Given the description of an element on the screen output the (x, y) to click on. 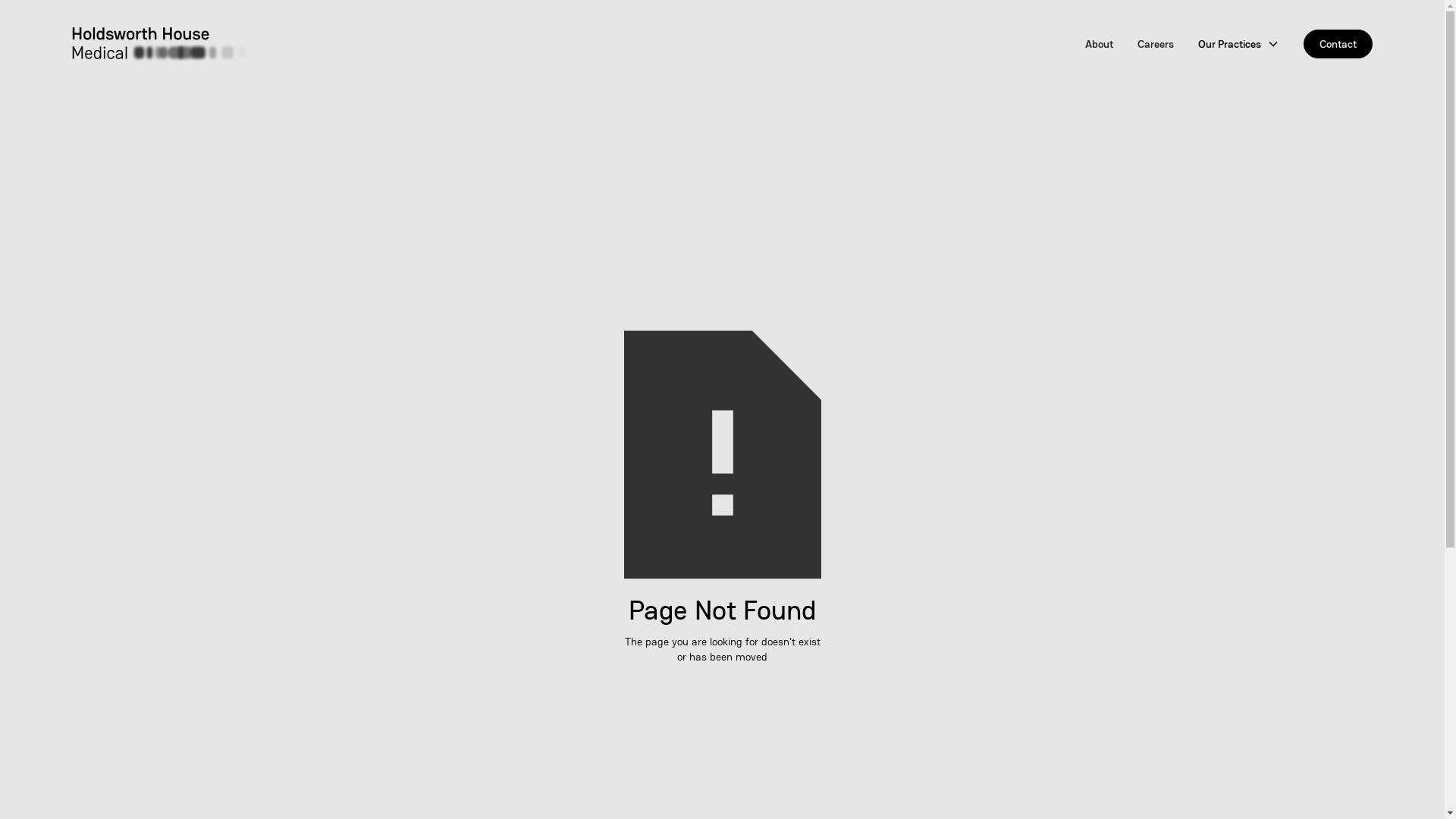
About Element type: text (1099, 43)
Careers Element type: text (1155, 43)
Contact Element type: text (1337, 43)
